Given the description of an element on the screen output the (x, y) to click on. 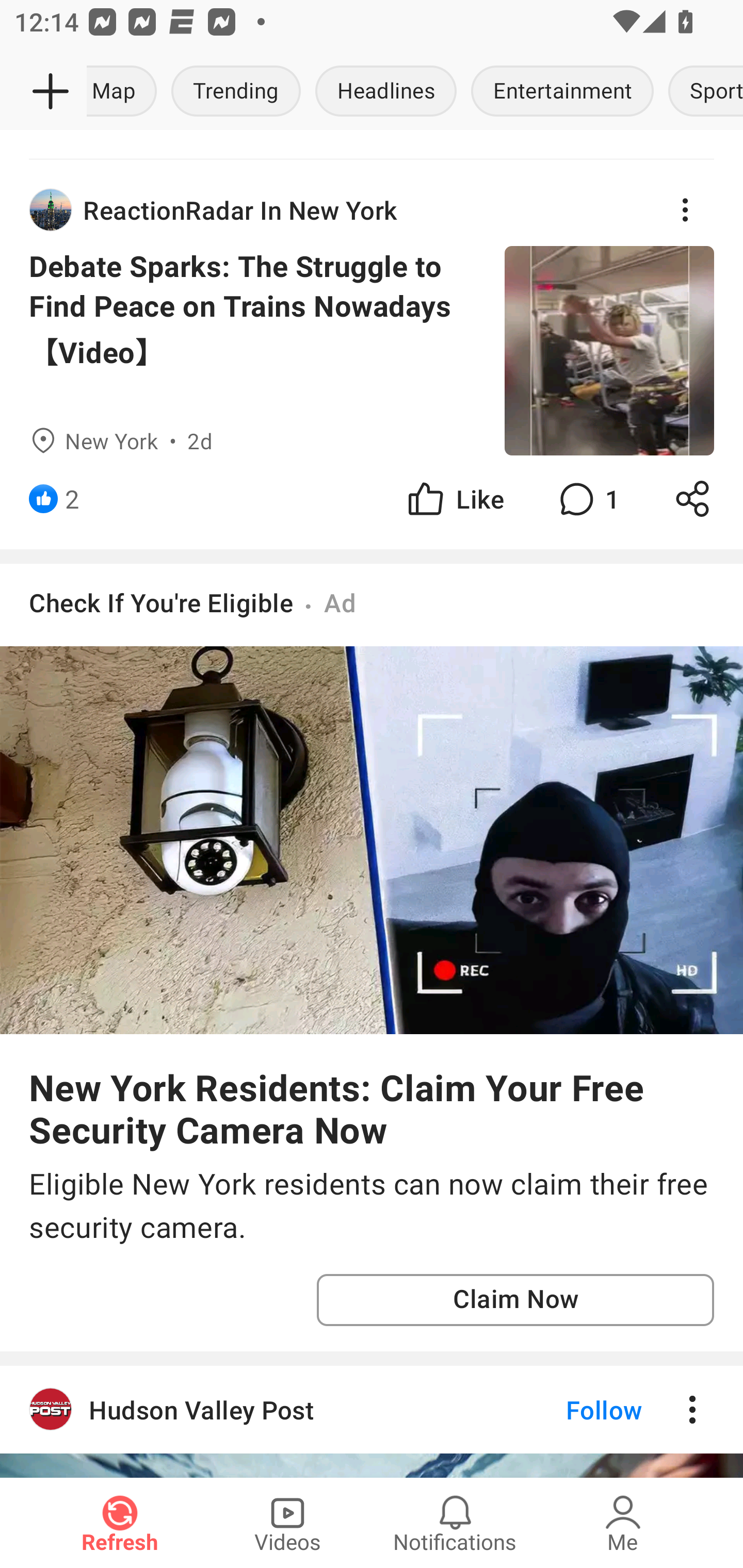
Crime Map (125, 91)
Trending (236, 91)
Headlines (385, 91)
Entertainment (562, 91)
2 (72, 498)
Like (454, 498)
1 (587, 498)
Check If You're Eligible (160, 601)
Claim Now (515, 1299)
Hudson Valley Post Follow (371, 1409)
Follow (569, 1409)
Videos (287, 1522)
Notifications (455, 1522)
Me (622, 1522)
